Given the description of an element on the screen output the (x, y) to click on. 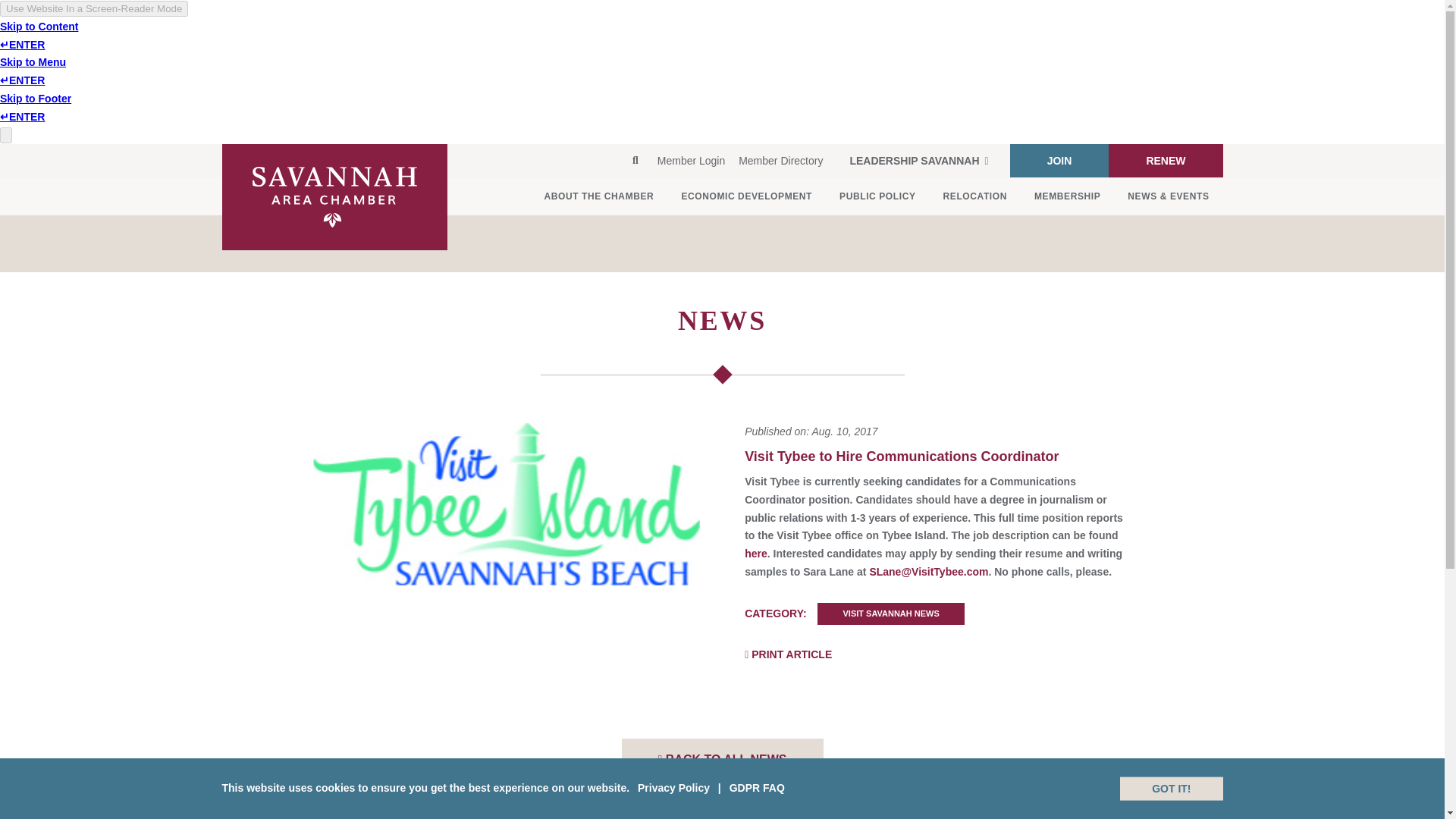
RENEW (1165, 160)
ABOUT THE CHAMBER (599, 196)
Member Directory (780, 160)
JOIN (1059, 160)
ECONOMIC DEVELOPMENT (745, 196)
Member Login (691, 160)
PUBLIC POLICY (876, 196)
LEADERSHIP SAVANNAH (918, 160)
